Given the description of an element on the screen output the (x, y) to click on. 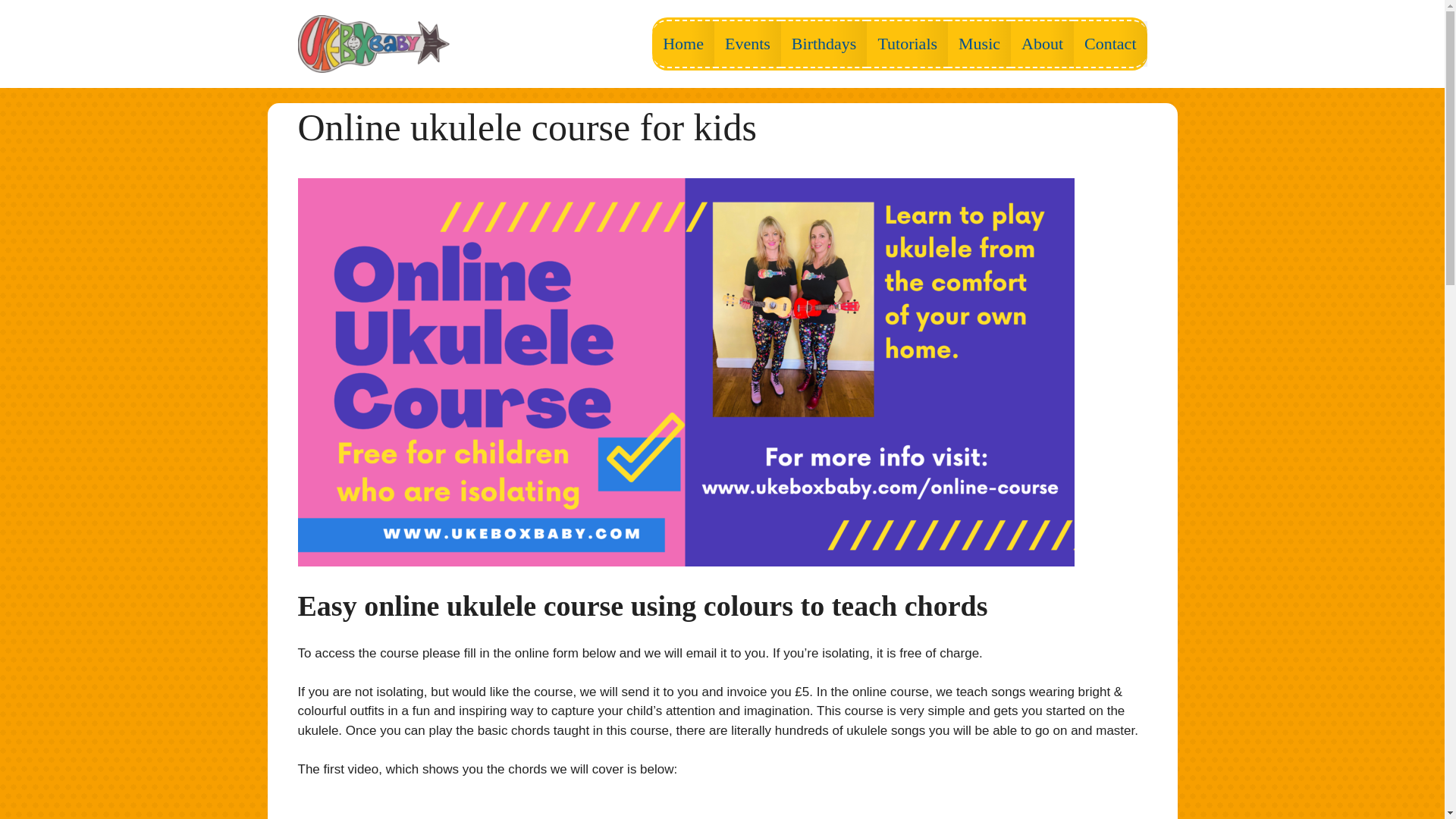
Birthdays (823, 43)
Contact (1110, 43)
About (1042, 43)
Tutorials (906, 43)
Music (978, 43)
Home (683, 43)
Free Ukulele Course For Isolating Kids - ukeboxbaby.com (722, 808)
Events (747, 43)
